Given the description of an element on the screen output the (x, y) to click on. 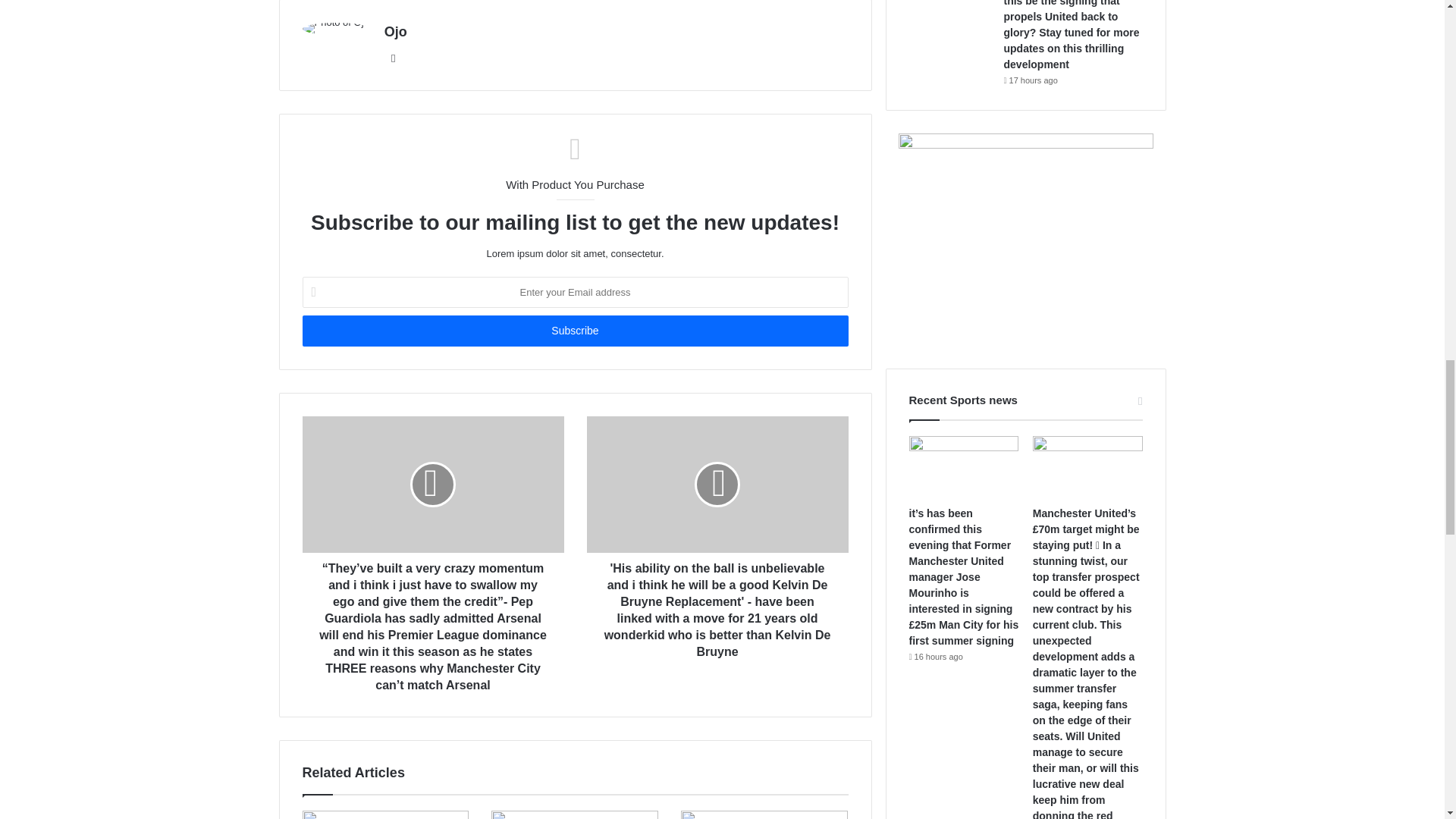
Subscribe (574, 330)
